Given the description of an element on the screen output the (x, y) to click on. 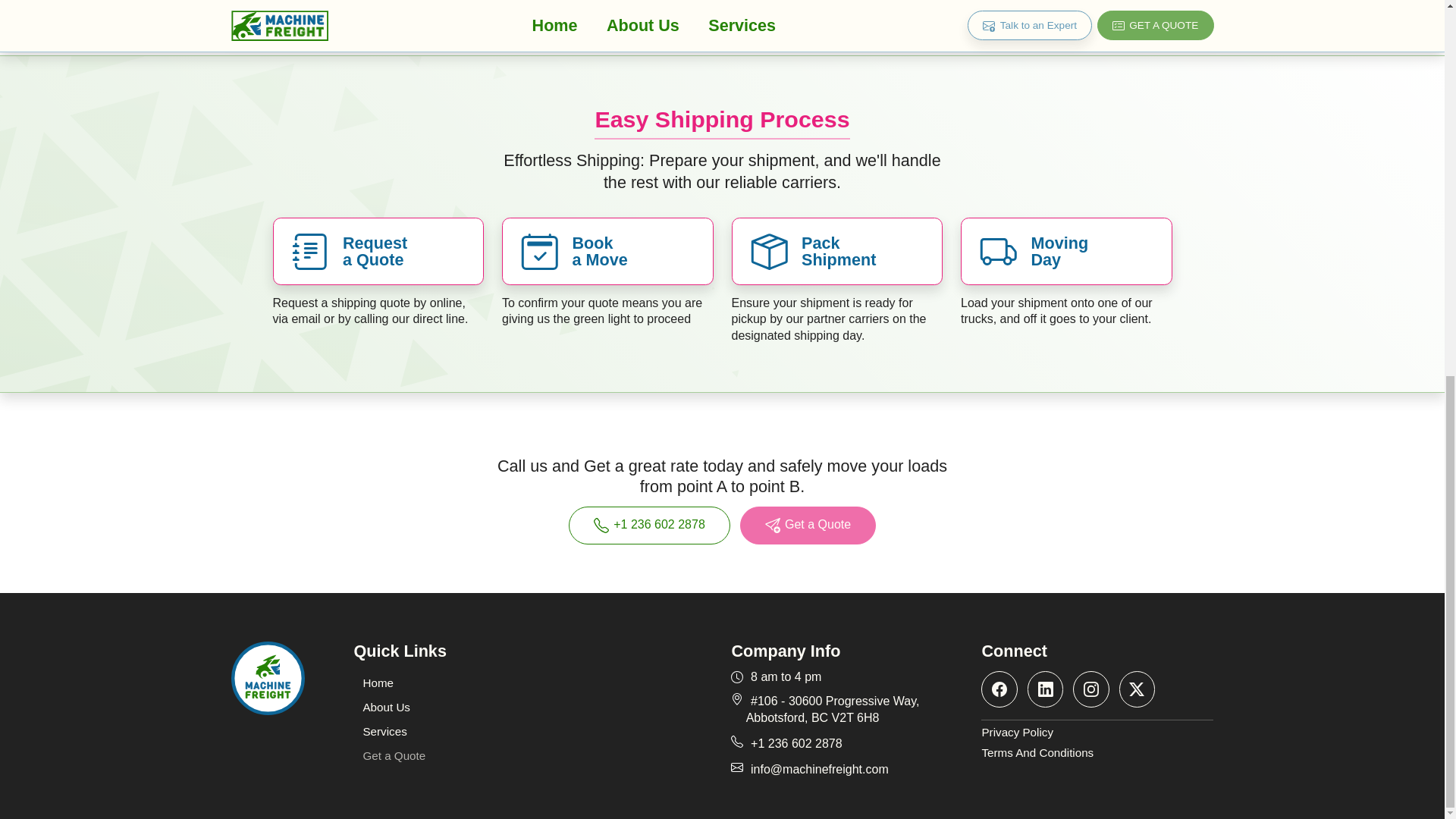
Privacy Policy (1096, 732)
Services (383, 731)
Home (378, 682)
About Us (386, 707)
Get a Quote (807, 524)
Get a Quote (393, 755)
Terms And Conditions (1096, 753)
